Given the description of an element on the screen output the (x, y) to click on. 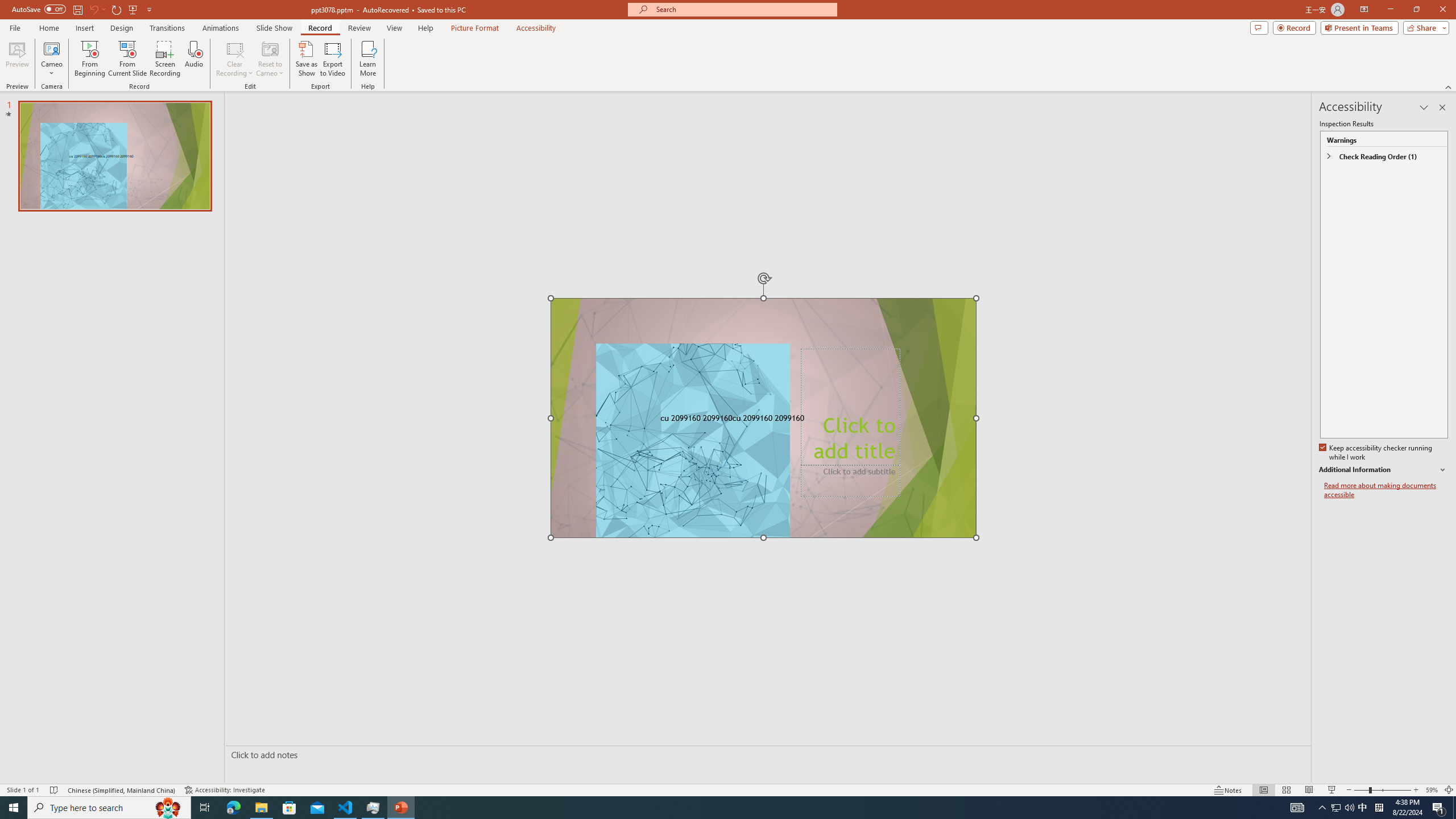
Picture Format (475, 28)
Clear Recording (234, 58)
Learn More (368, 58)
Screen Recording (165, 58)
